Given the description of an element on the screen output the (x, y) to click on. 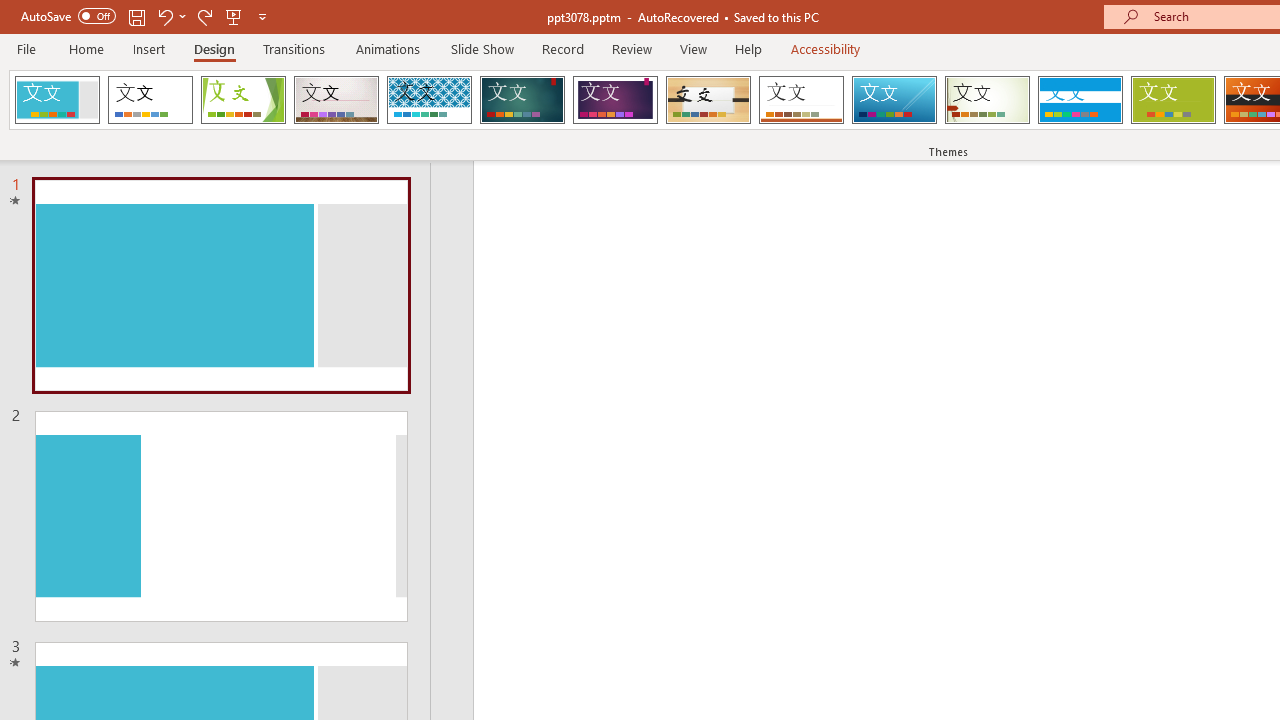
Basis (1172, 100)
